Given the description of an element on the screen output the (x, y) to click on. 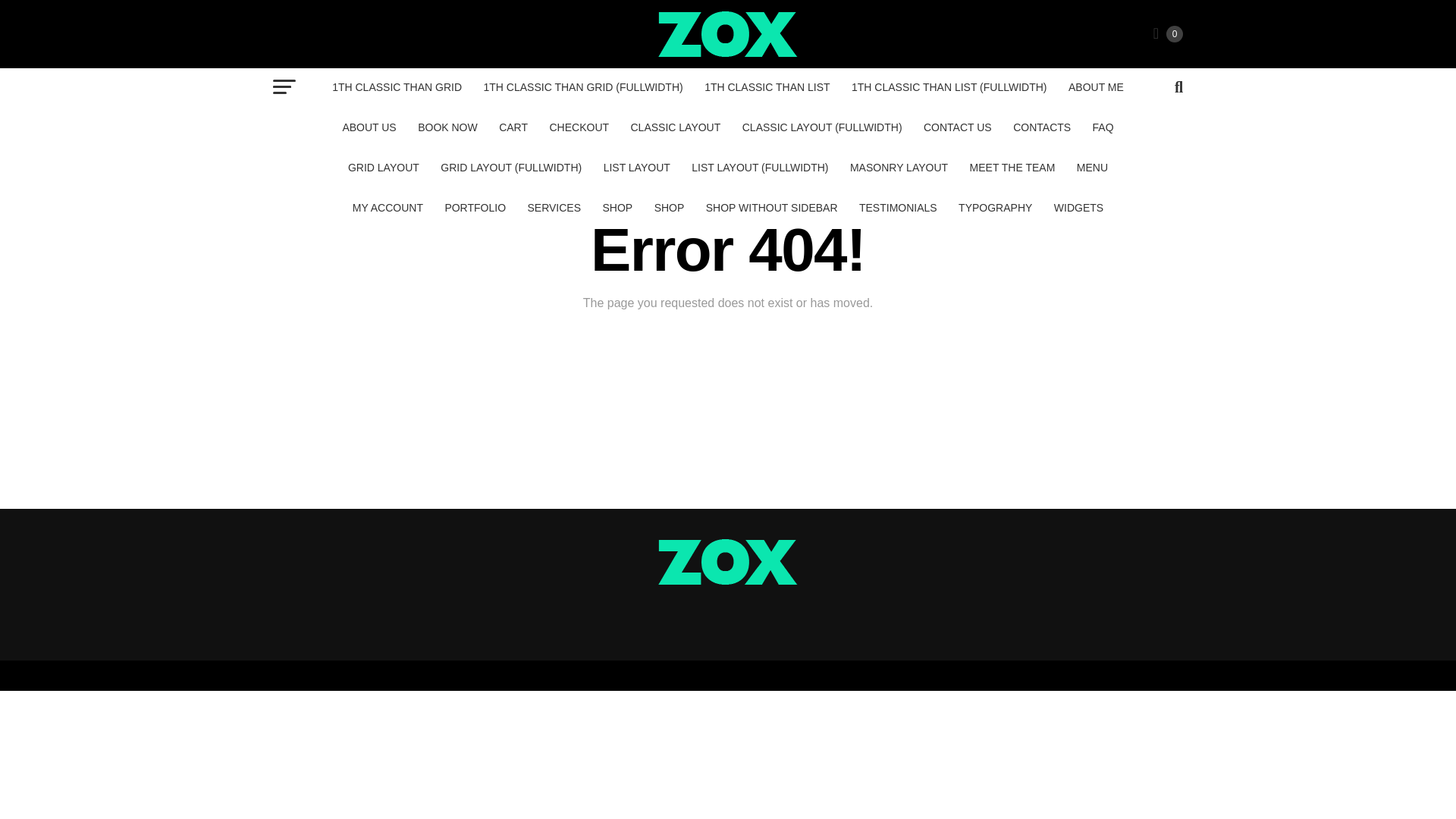
1TH CLASSIC THAN GRID (396, 86)
1TH CLASSIC THAN LIST (766, 86)
ABOUT US (368, 127)
ABOUT ME (1095, 86)
